Given the description of an element on the screen output the (x, y) to click on. 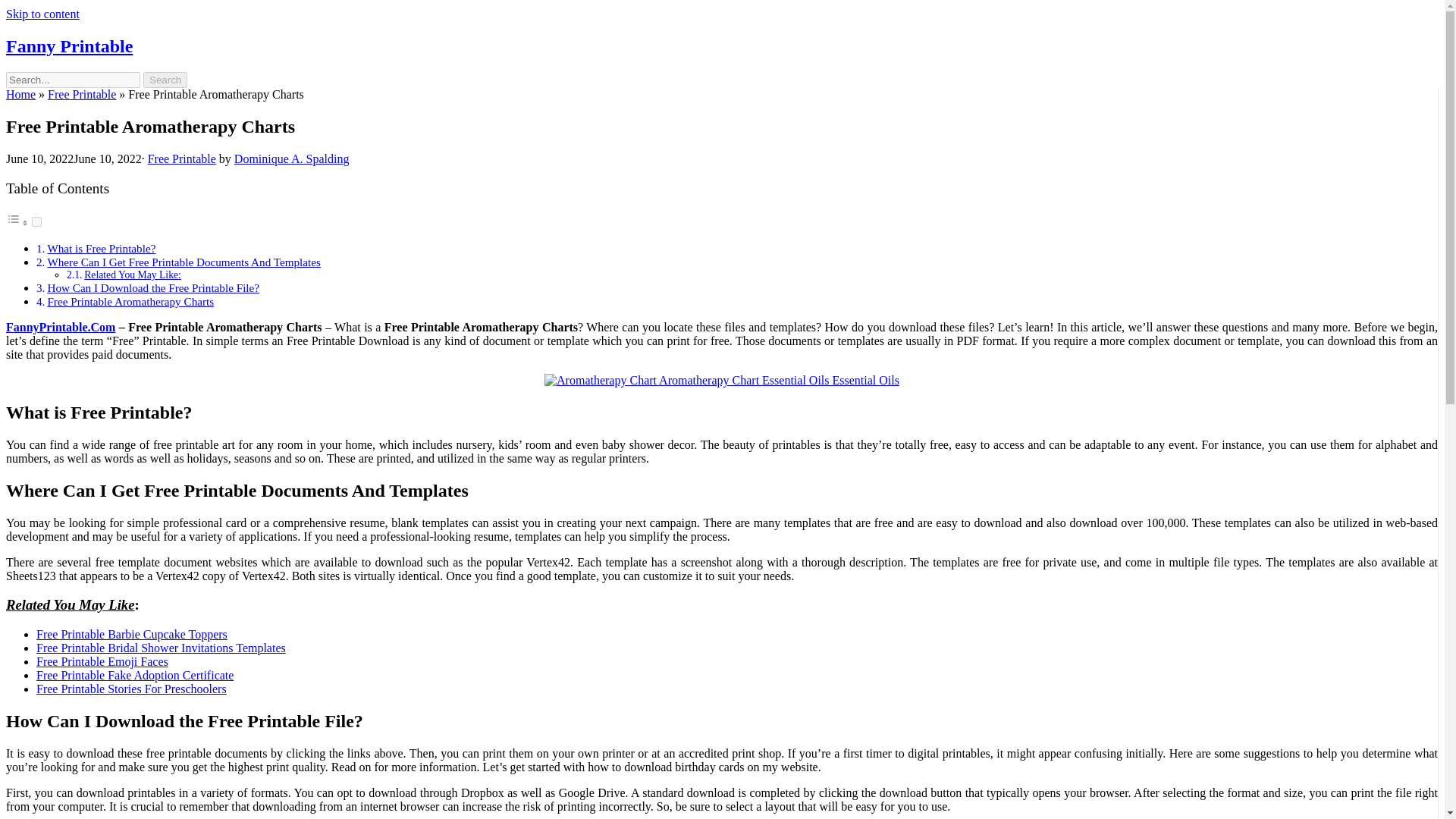
Dominique A. Spalding (291, 158)
Skip to content (42, 13)
Free Printable Stories For Preschoolers (131, 688)
Free Printable Fake Adoption Certificate (134, 675)
Free Printable Barbie Cupcake Toppers (131, 634)
Where Can I Get Free Printable Documents And Templates (183, 261)
Search (164, 79)
What is Free Printable? (100, 247)
Free Printable Bridal Shower Invitations Templates (160, 647)
Free Printable (181, 158)
